Given the description of an element on the screen output the (x, y) to click on. 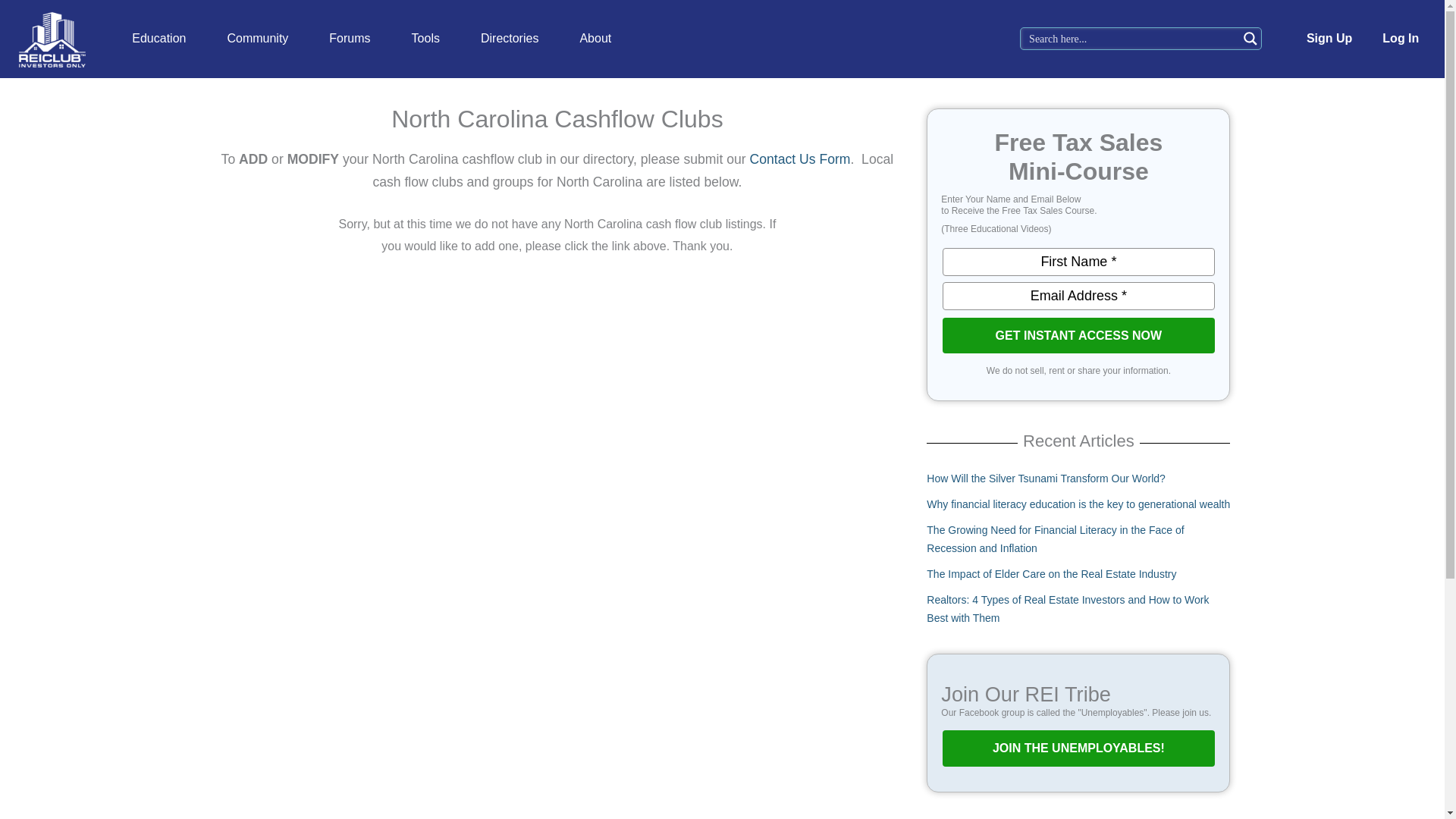
Education (159, 38)
Get Instant Access Now (1078, 335)
Community (257, 38)
Join The Unemployables! (1078, 748)
Tools (425, 38)
Forums (349, 38)
Directories (509, 38)
